Given the description of an element on the screen output the (x, y) to click on. 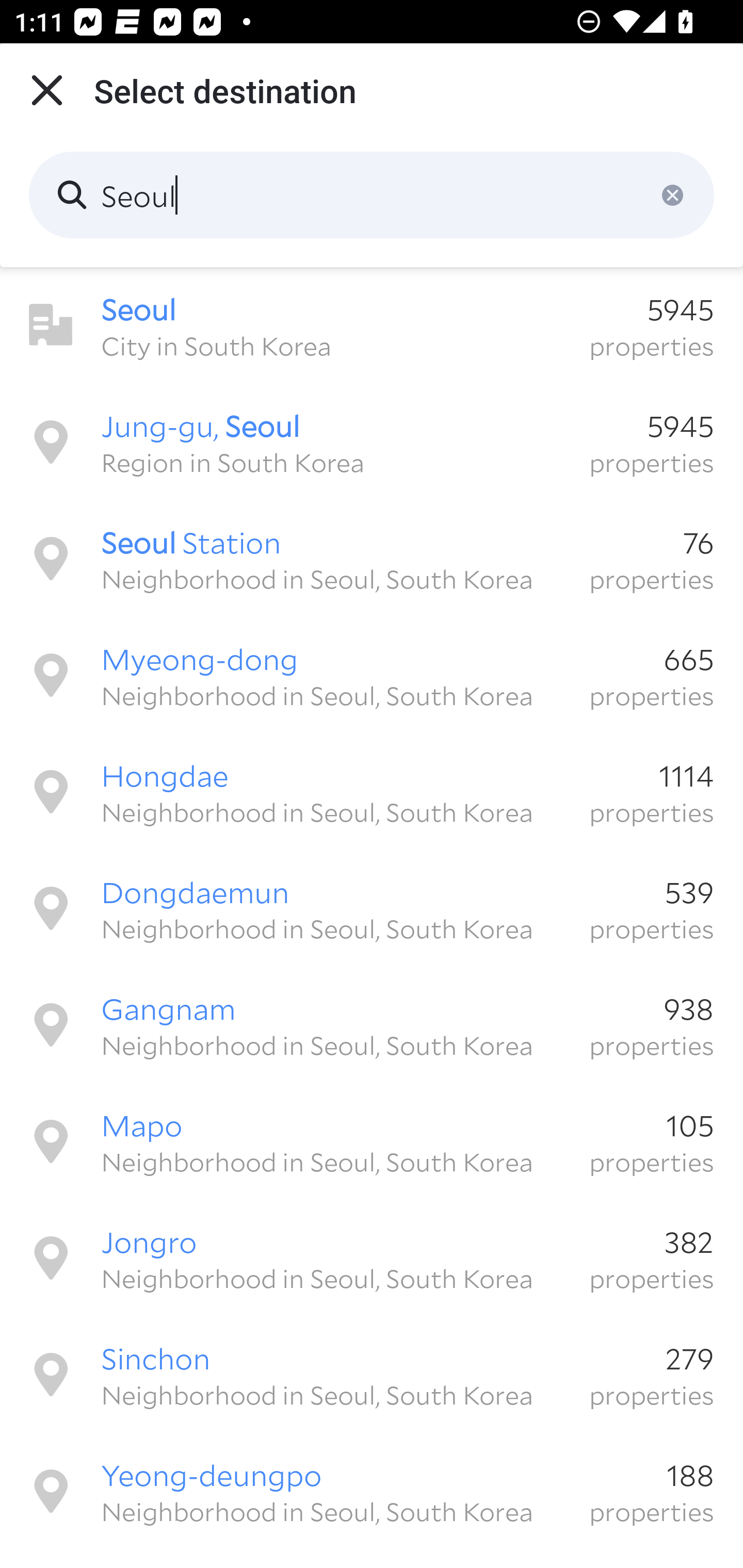
Seoul (371, 195)
Seoul 5945 City in South Korea properties (371, 325)
